Given the description of an element on the screen output the (x, y) to click on. 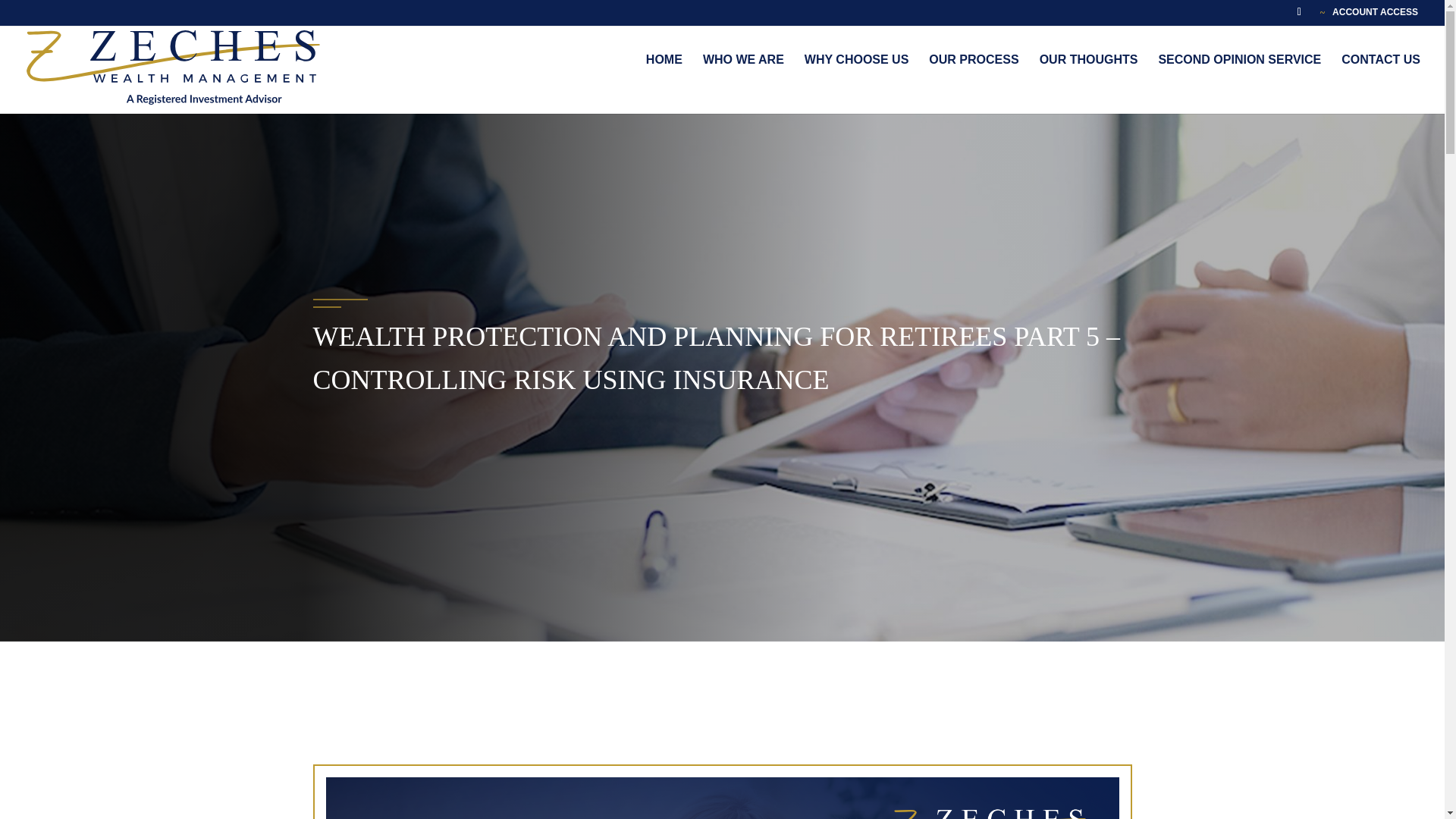
SECOND OPINION SERVICE (1238, 75)
OUR PROCESS (972, 75)
OUR THOUGHTS (1088, 75)
ACCOUNT ACCESS (1369, 11)
CONTACT US (1380, 75)
WHY CHOOSE US (856, 75)
WHO WE ARE (743, 75)
